Given the description of an element on the screen output the (x, y) to click on. 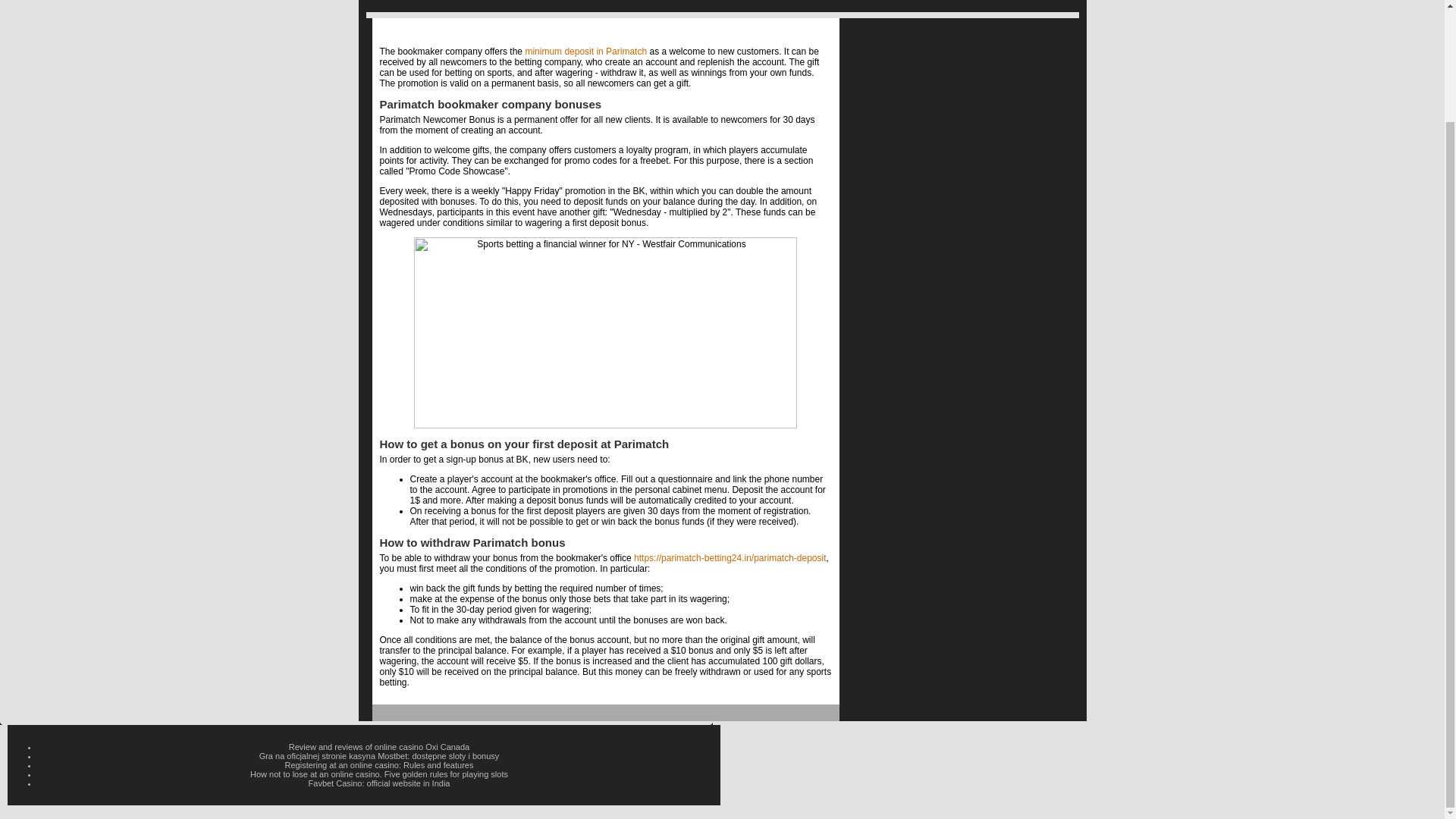
Review and reviews of online casino Oxi Canada (378, 746)
Registering at an online casino: Rules and features (379, 764)
Registering at an online casino: Rules and features (379, 764)
Favbet Casino: official website in India (378, 782)
Review and reviews of online casino Oxi Canada (378, 746)
Favbet Casino: official website in India (378, 782)
minimum deposit in Parimatch (585, 50)
